Given the description of an element on the screen output the (x, y) to click on. 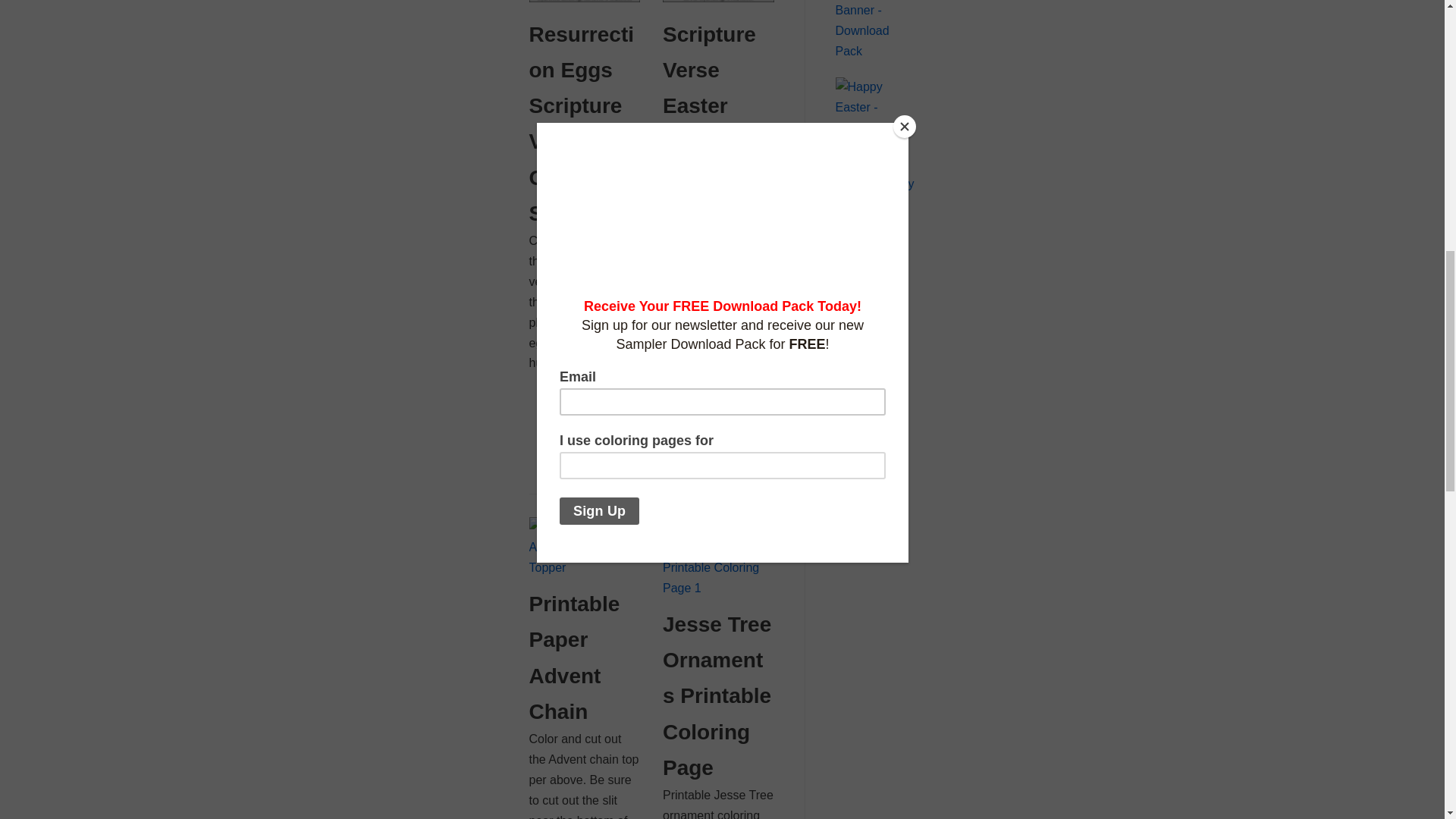
Jesse Tree Ornaments Printable Coloring Page (718, 587)
Resurrection Eggs Scripture Verse Cut Out Scrolls (584, 2)
Scripture Verse Easter Eggs Coloring Page Cut Outs (718, 2)
Printable Paper Advent Chain (584, 567)
